Given the description of an element on the screen output the (x, y) to click on. 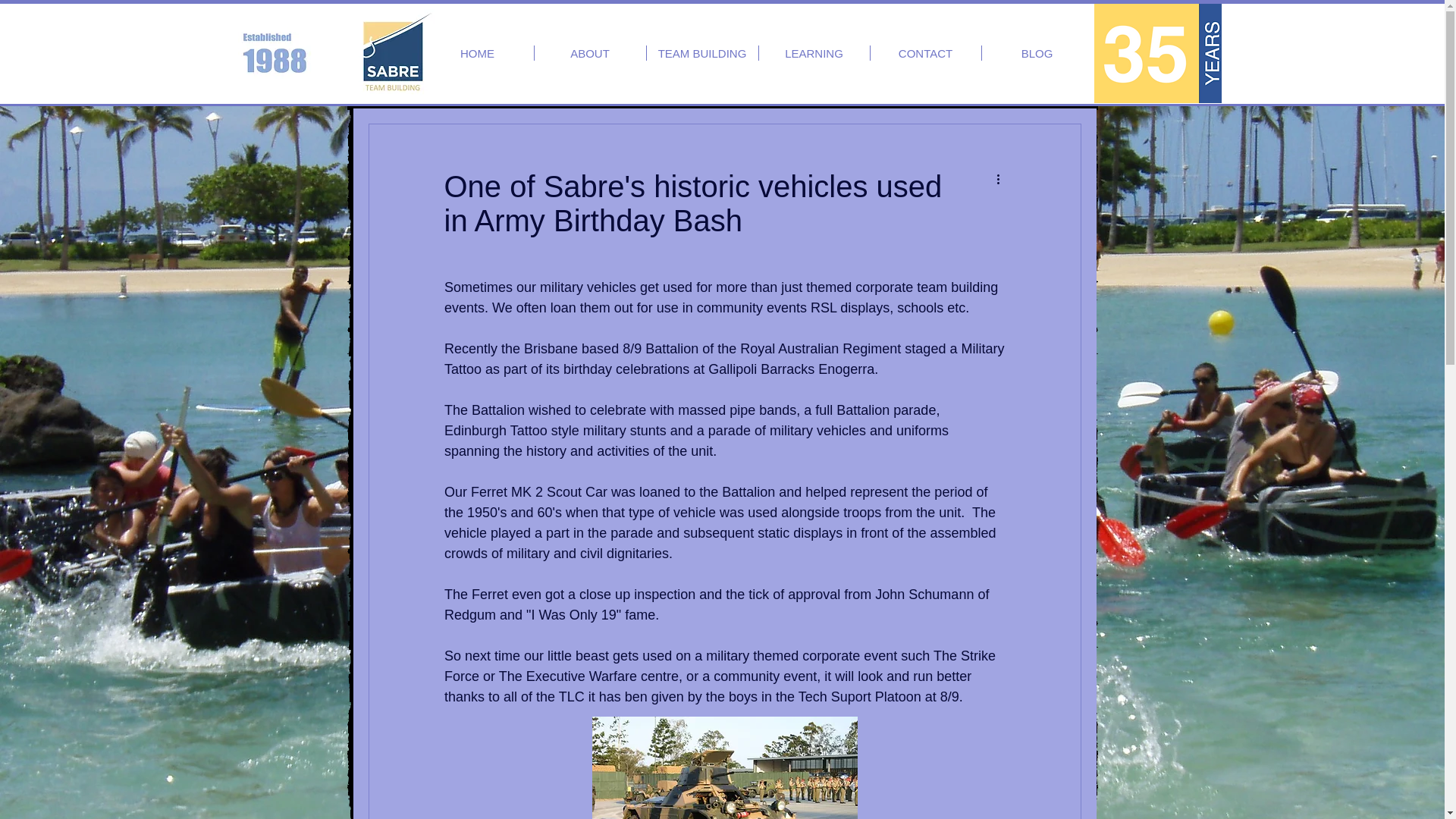
BLOG (1036, 52)
LEARNING (813, 52)
TEAM BUILDING (701, 52)
ABOUT (589, 52)
Team Building Australia since 1988 (1157, 53)
CONTACT (925, 52)
Team Building by Sabre Corporate Developmen (391, 52)
HOME (478, 52)
